Given the description of an element on the screen output the (x, y) to click on. 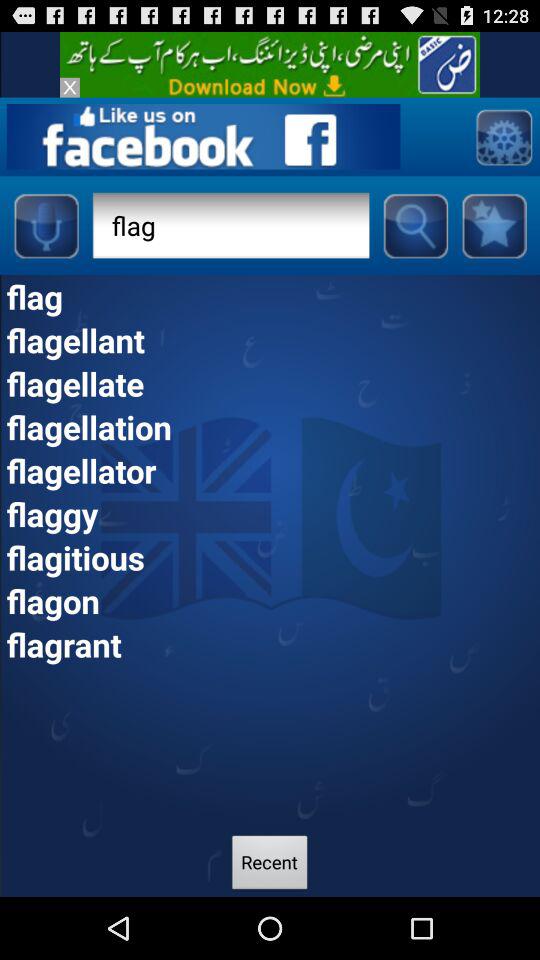
facebook (203, 136)
